Given the description of an element on the screen output the (x, y) to click on. 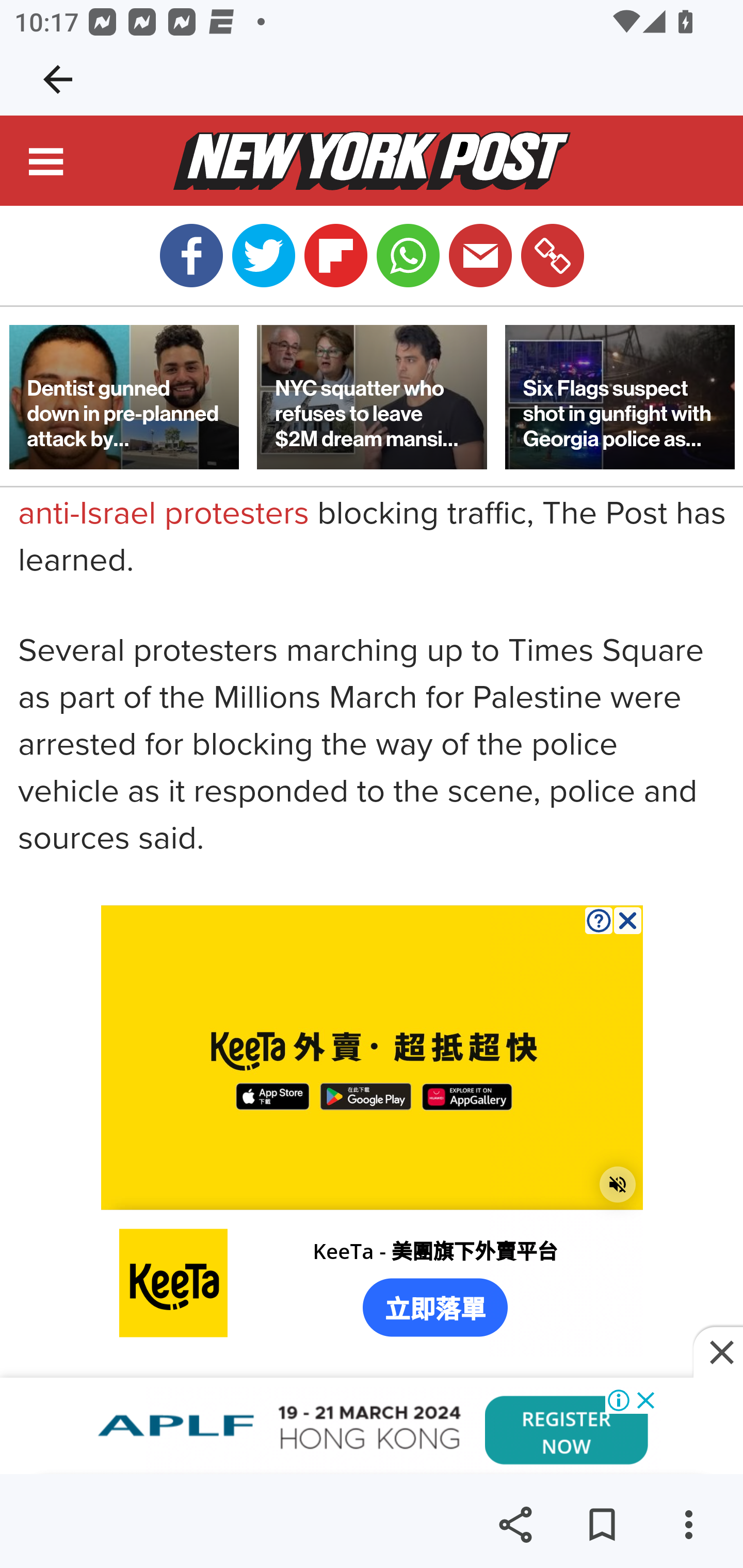
Navigate up (57, 79)
nypost (371, 161)
navigation menu (46, 165)
Click to share on Facebook (191, 256)
Click to share on Twitter (263, 256)
Click to share on Flipboard (335, 256)
Click to share on Whatsapp (407, 256)
Click to email a link to a friend (480, 256)
Click to copy URL (552, 256)
due to anti-Israel protesters (338, 492)
Close this ad (718, 1352)
Share (514, 1524)
Save for later (601, 1524)
More options (688, 1524)
